Given the description of an element on the screen output the (x, y) to click on. 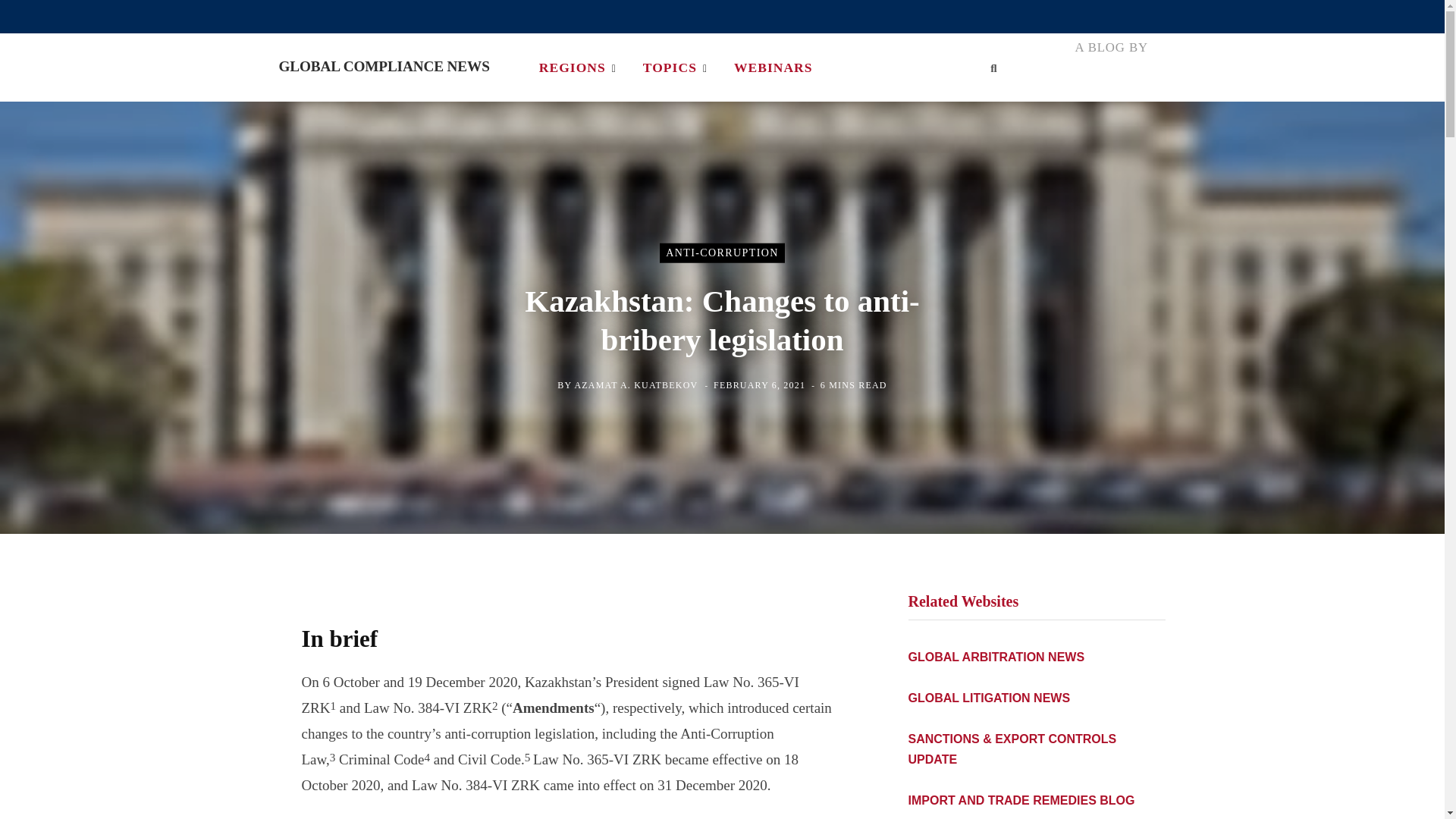
Posts by Azamat A. Kuatbekov (635, 385)
REGIONS (577, 67)
Search (993, 67)
Global Compliance News (384, 66)
GLOBAL COMPLIANCE NEWS (384, 66)
